Given the description of an element on the screen output the (x, y) to click on. 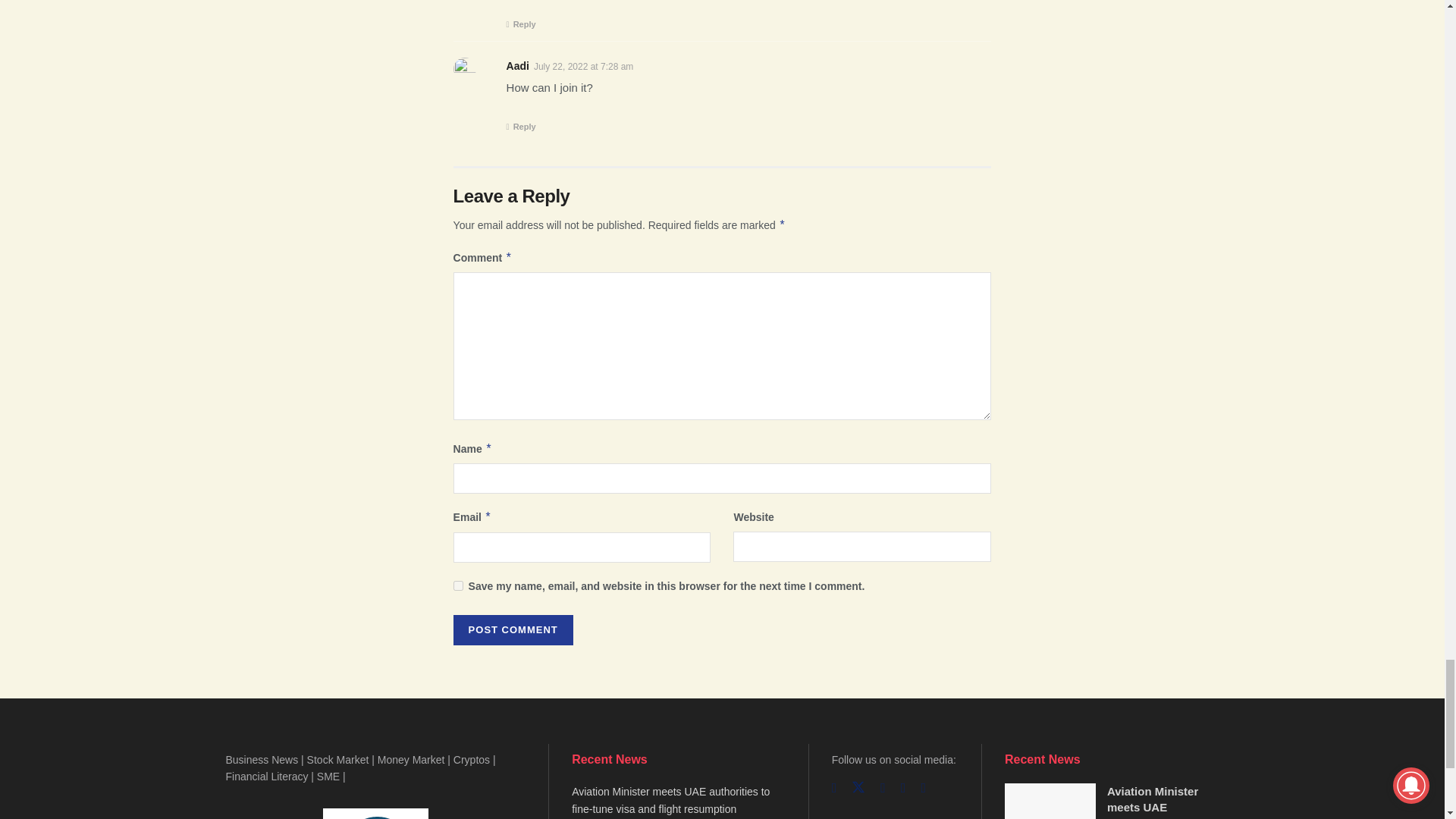
yes (457, 585)
Post Comment (512, 630)
